Given the description of an element on the screen output the (x, y) to click on. 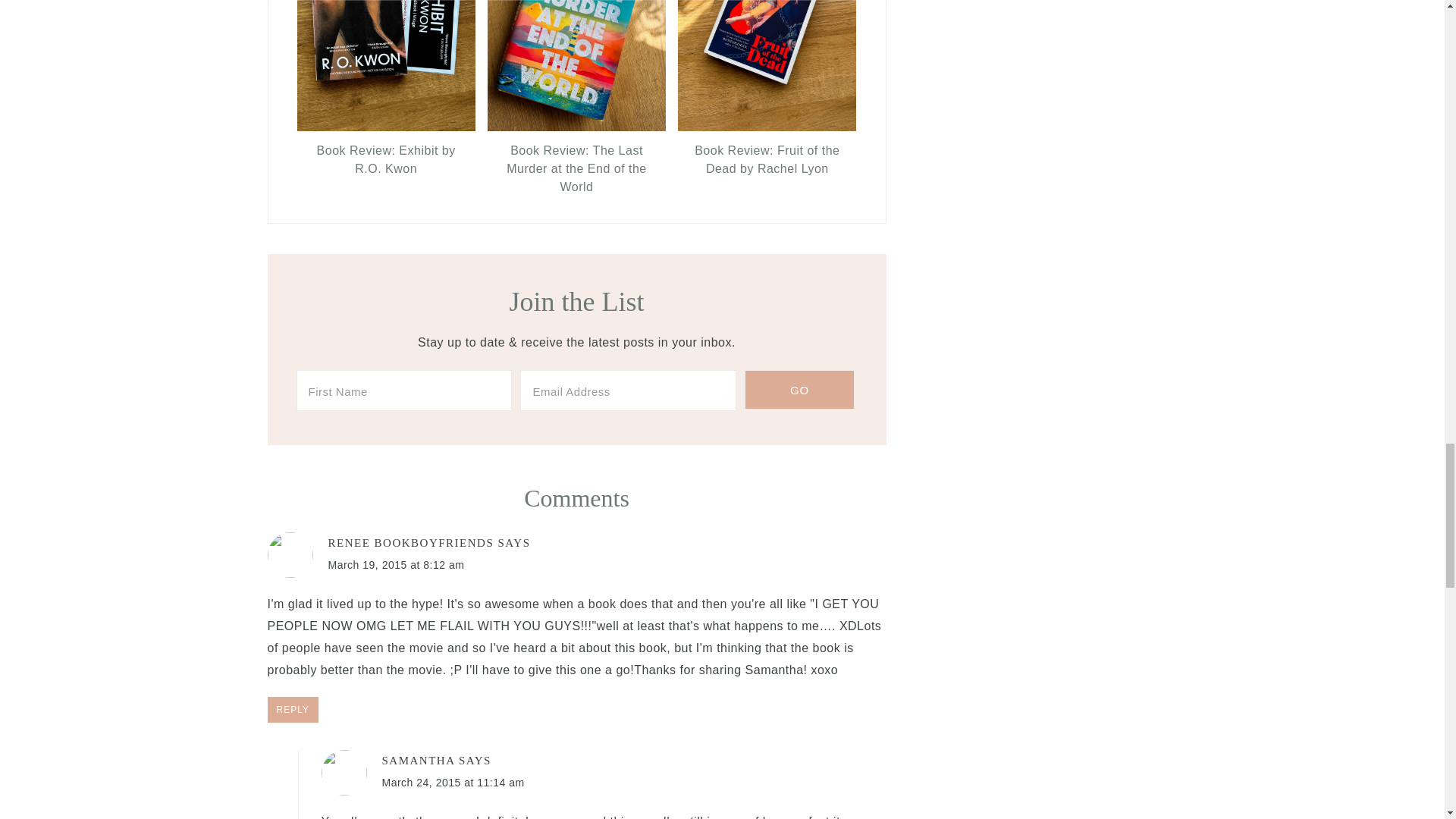
Permanent Link to Book Review: Exhibit by R.O. Kwon (386, 126)
Go (798, 389)
Permanent Link to Book Review: Exhibit by R.O. Kwon (386, 159)
